Given the description of an element on the screen output the (x, y) to click on. 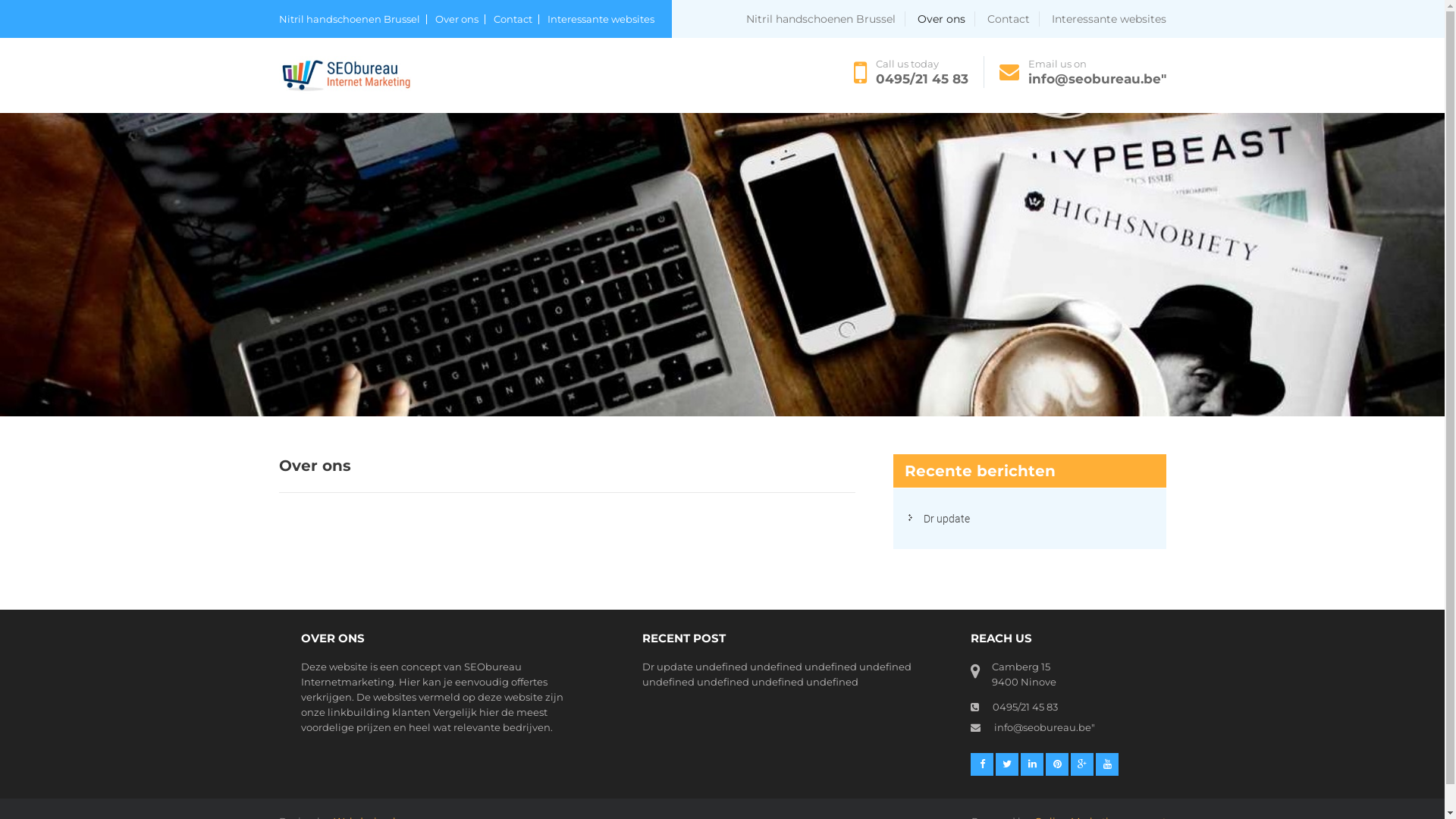
youtube Element type: hover (1106, 764)
Over ons Element type: text (946, 18)
twitter Element type: hover (1006, 764)
google-plus Element type: hover (1081, 764)
Nitril handschoenen Brussel Element type: text (825, 18)
info@seobureau.be" Element type: text (1097, 78)
Nitril handschoenen Brussel Element type: text (352, 19)
Interessante websites Element type: text (1108, 18)
pinterest Element type: hover (1056, 764)
facebook Element type: hover (981, 764)
Dr update Element type: text (667, 666)
Dr update Element type: text (946, 518)
Interessante websites Element type: text (600, 19)
Contact Element type: text (1013, 18)
info@seobureau.be" Element type: text (1043, 727)
linkedin Element type: hover (1031, 764)
Over ons Element type: text (460, 19)
Contact Element type: text (515, 19)
